Given the description of an element on the screen output the (x, y) to click on. 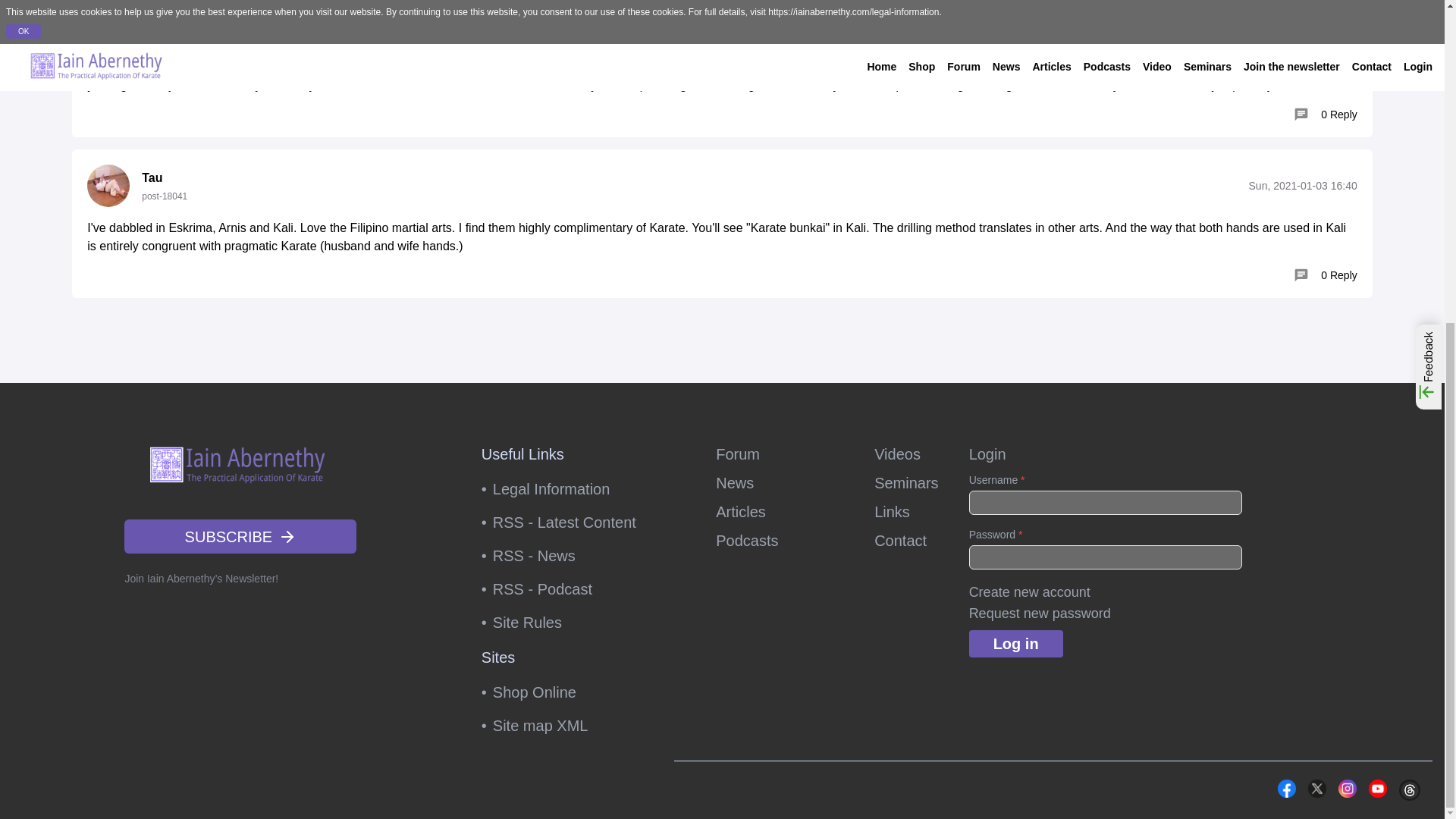
0 Reply (1325, 274)
Links (892, 511)
Seminars (906, 482)
SUBSCRIBE (239, 536)
Articles (780, 511)
Podcasts (780, 540)
Videos (897, 454)
0 Reply (1325, 114)
Shop Online (568, 692)
Twitter Follow Button (1203, 786)
Legal Information (568, 489)
Log in (1015, 643)
RSS - Latest Content (568, 522)
Contact (900, 540)
Site map XML (568, 725)
